Given the description of an element on the screen output the (x, y) to click on. 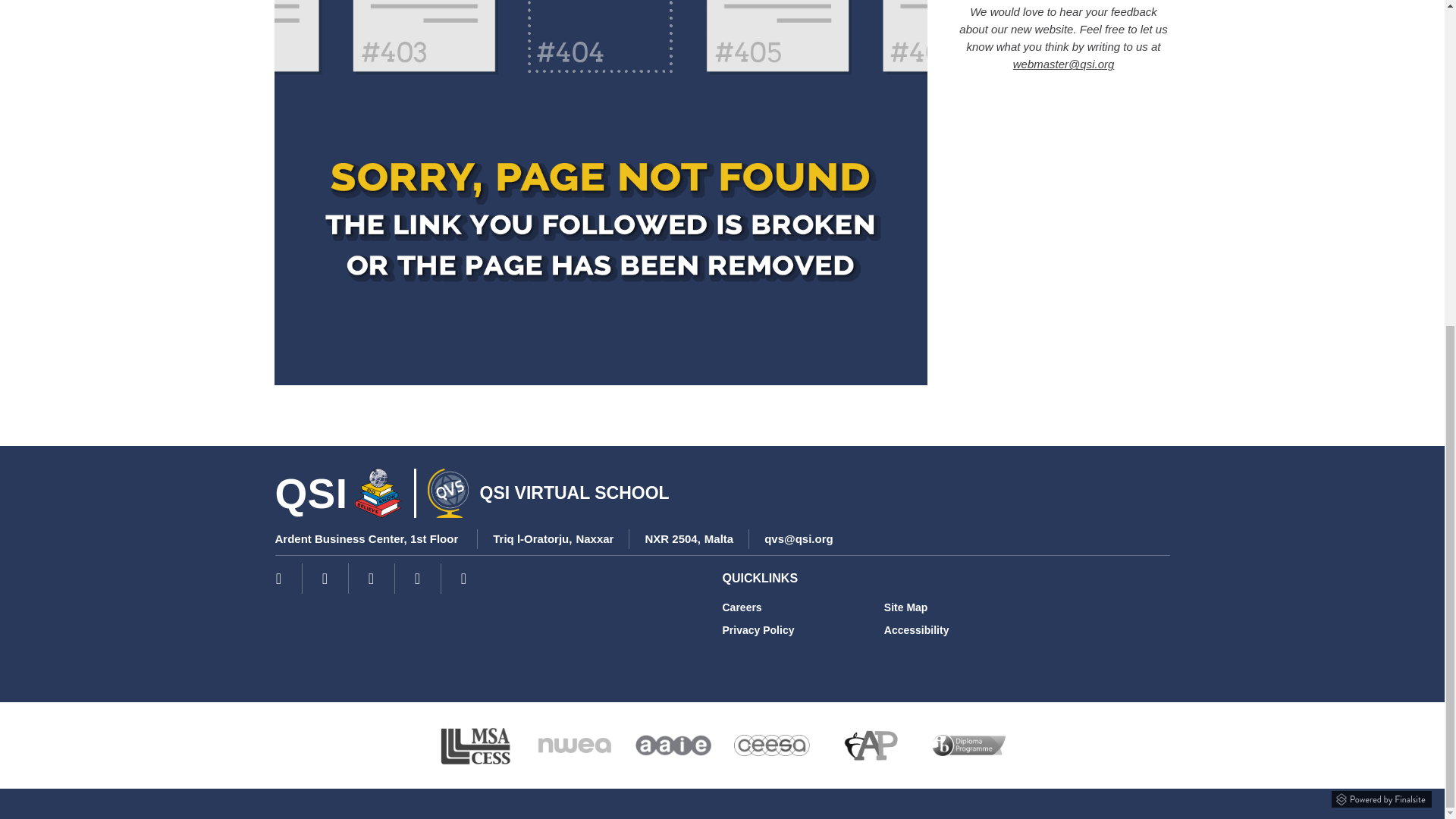
Powered by Finalsite opens in a new window (1382, 796)
Quality Schools International (379, 492)
Email (798, 538)
